Given the description of an element on the screen output the (x, y) to click on. 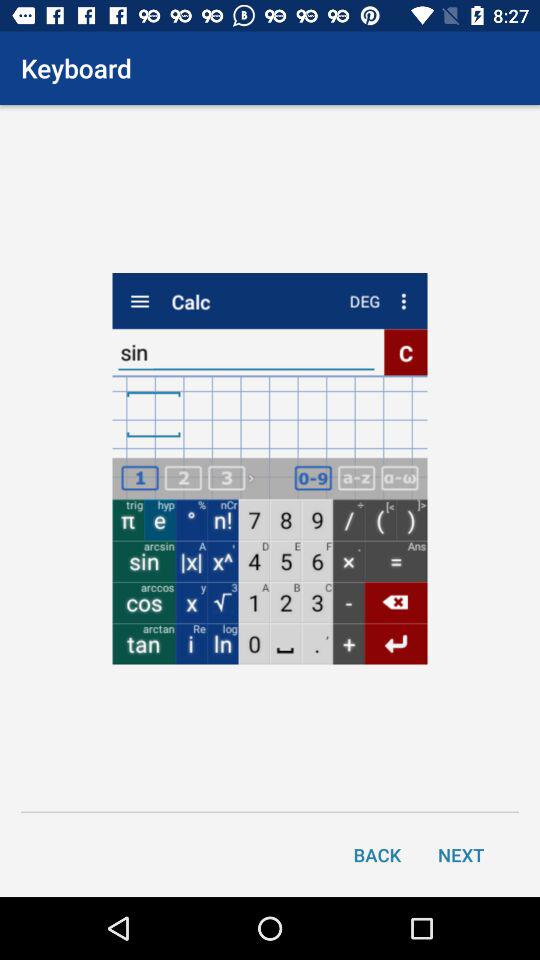
flip to the back (377, 854)
